Given the description of an element on the screen output the (x, y) to click on. 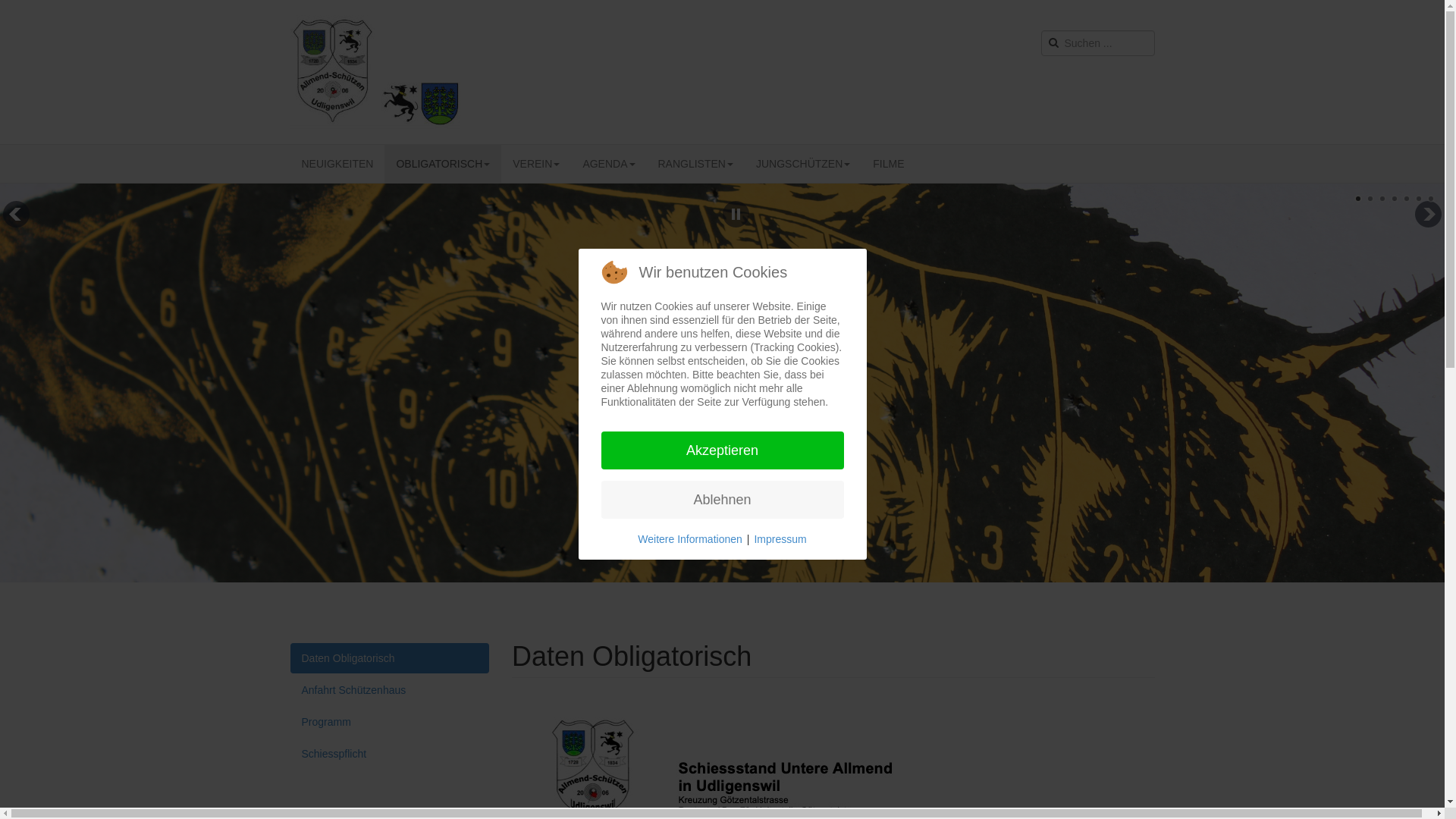
VEREIN Element type: text (536, 163)
FILME Element type: text (888, 163)
Akzeptieren Element type: text (721, 449)
OBLIGATORISCH Element type: text (442, 163)
Schiesspflicht Element type: text (389, 753)
Ablehnen Element type: text (721, 499)
NEUIGKEITEN Element type: text (336, 163)
Daten Obligatorisch Element type: text (389, 658)
Weitere Informationen Element type: text (689, 538)
Programm Element type: text (389, 721)
RANGLISTEN Element type: text (694, 163)
Impressum Element type: text (779, 538)
AGENDA Element type: text (608, 163)
